Given the description of an element on the screen output the (x, y) to click on. 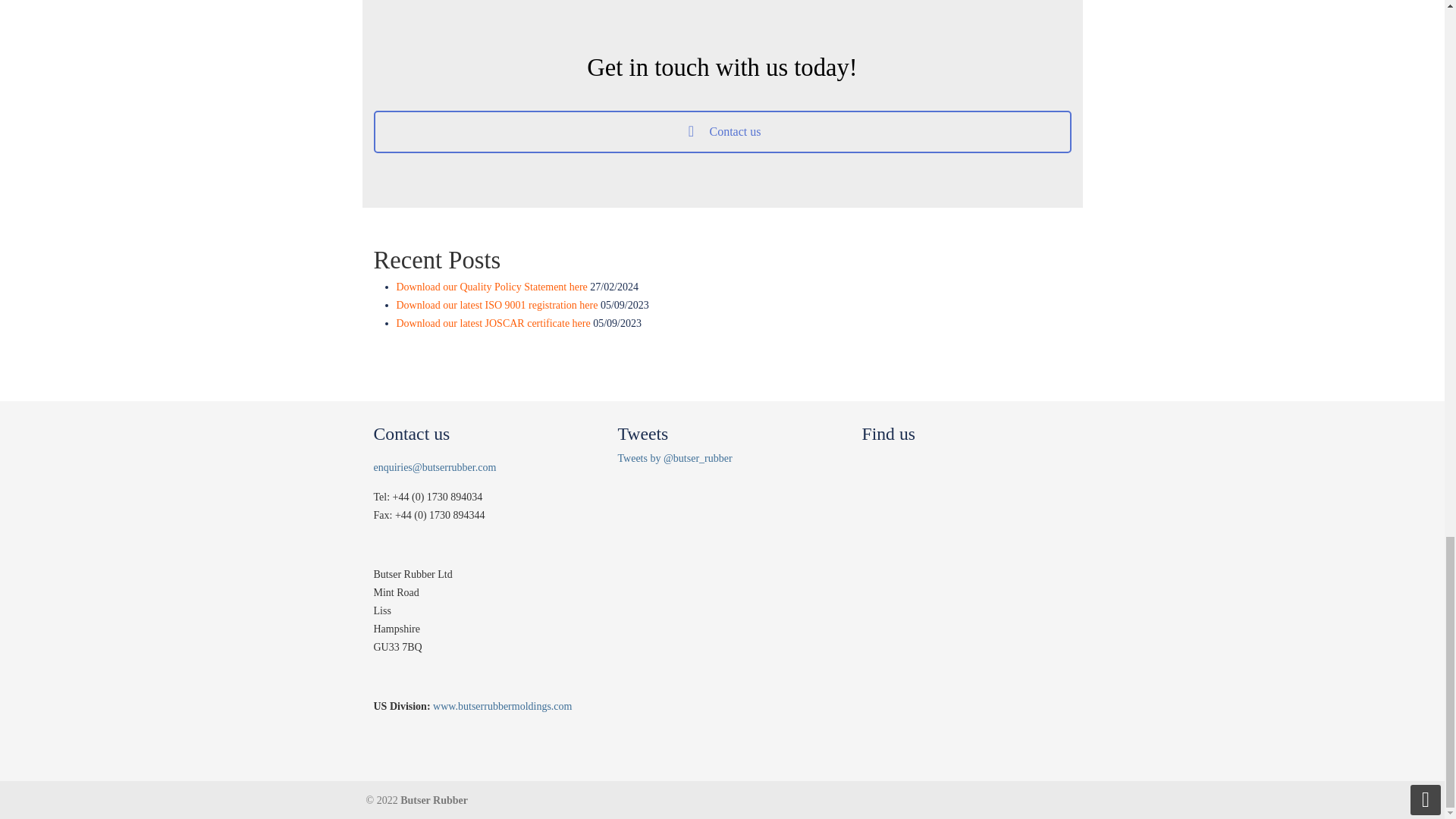
Download our Quality Policy Statement here (491, 286)
Download our latest ISO 9001 registration here (496, 305)
Download our latest JOSCAR certificate here (492, 323)
Contact us (721, 131)
www.butserrubbermoldings.com (502, 706)
